Given the description of an element on the screen output the (x, y) to click on. 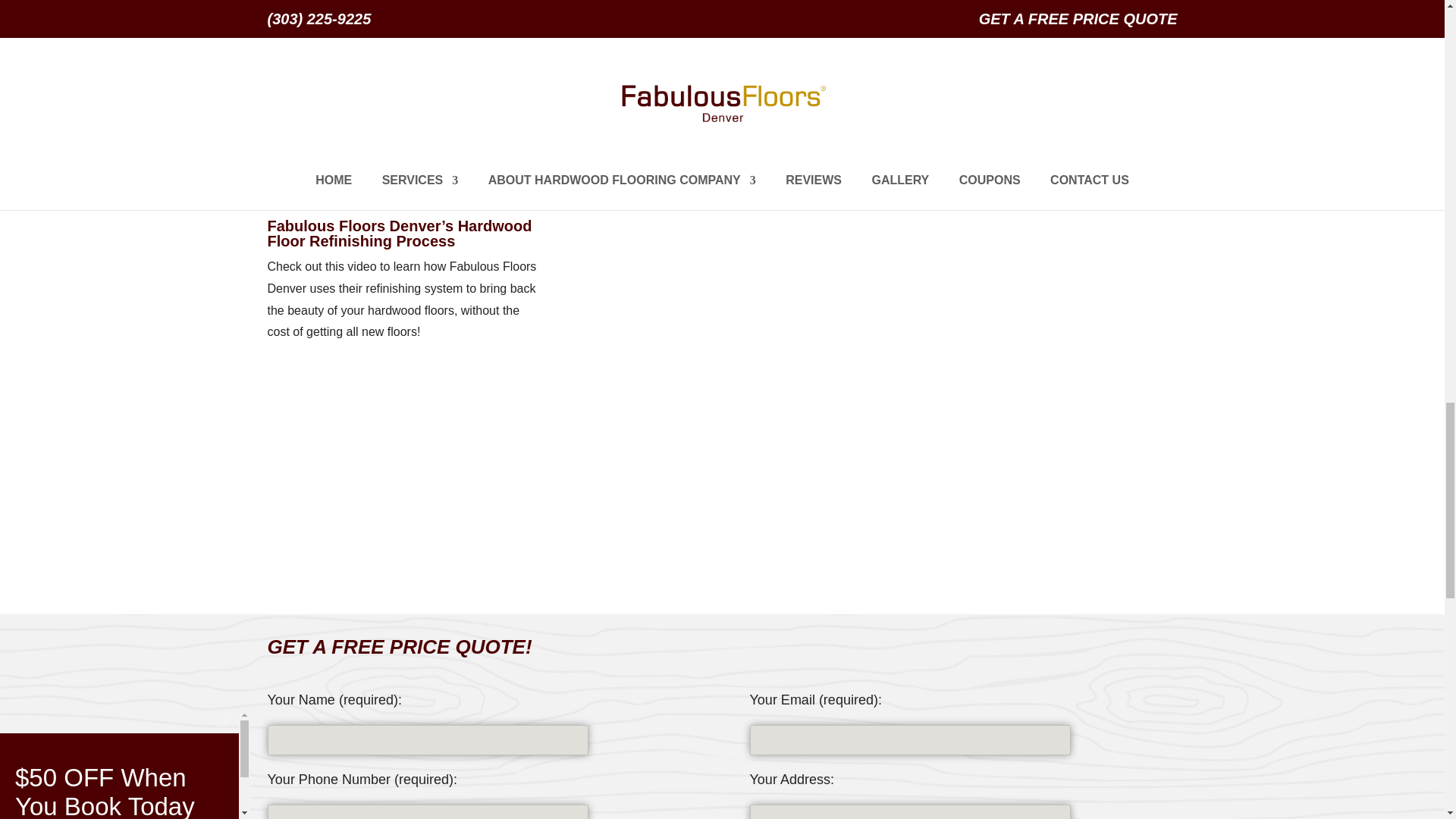
Read More Reviews (721, 108)
